Given the description of an element on the screen output the (x, y) to click on. 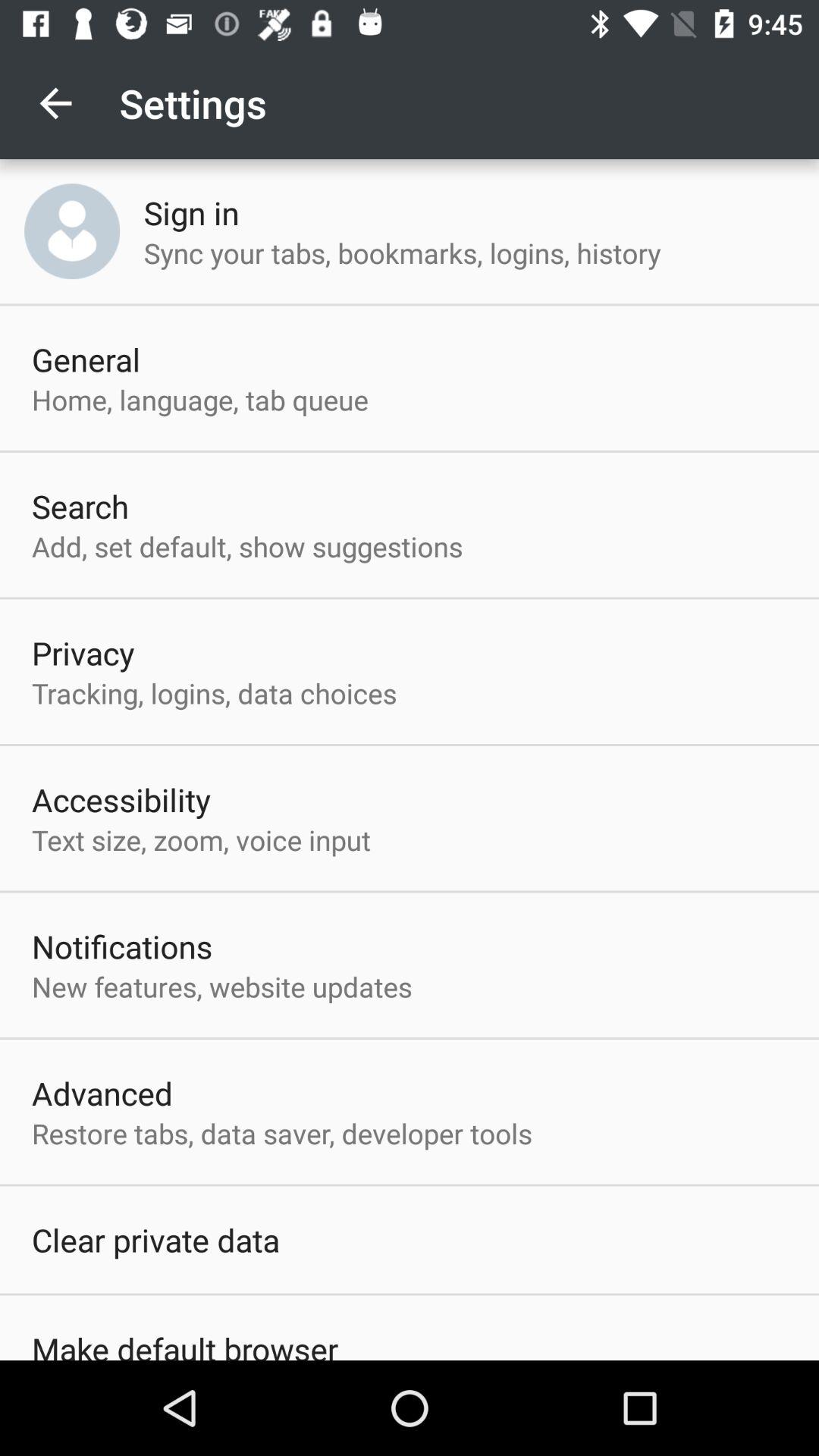
jump until advanced icon (101, 1092)
